Given the description of an element on the screen output the (x, y) to click on. 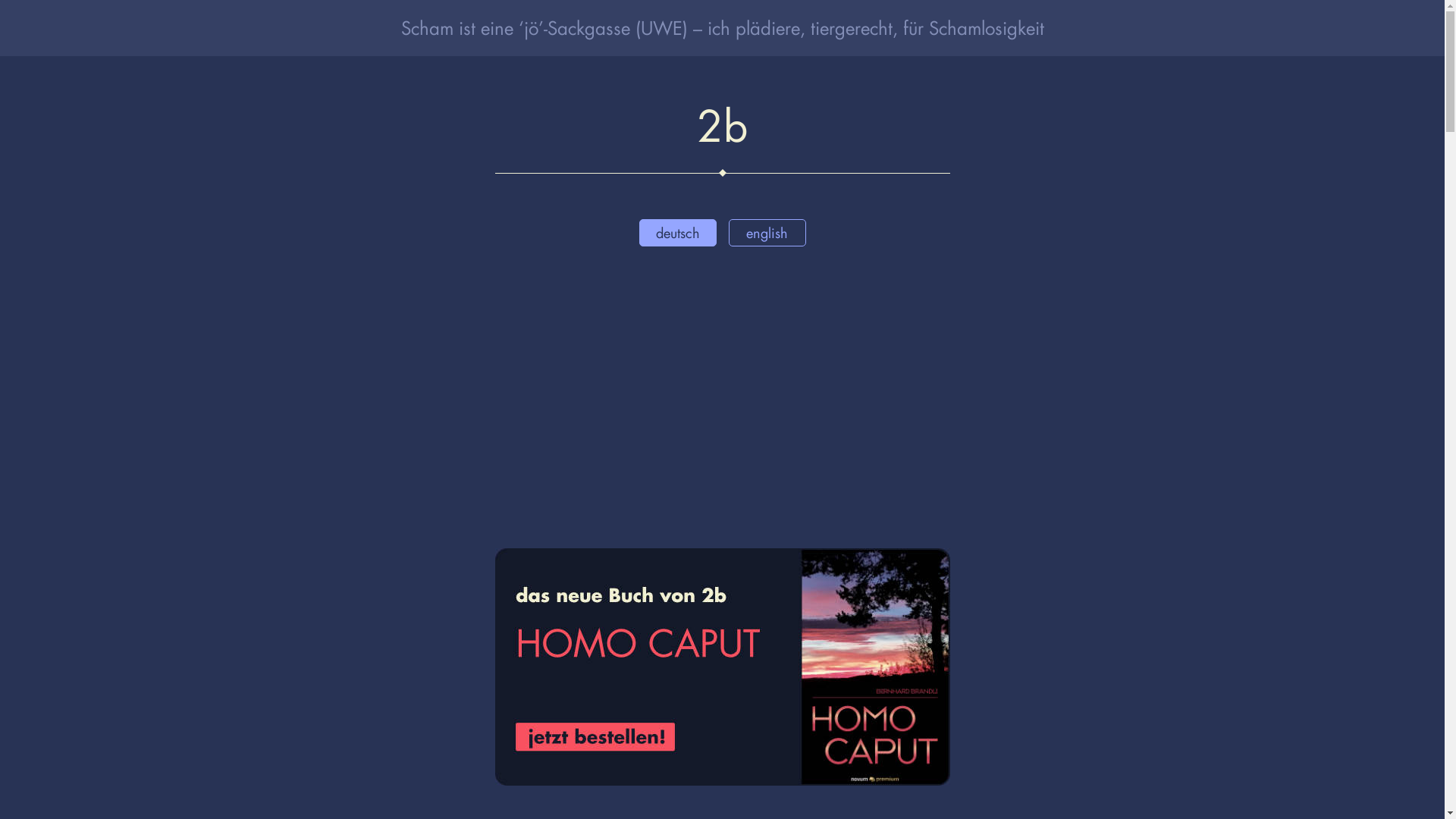
english Element type: text (766, 232)
deutsch Element type: text (676, 232)
